Given the description of an element on the screen output the (x, y) to click on. 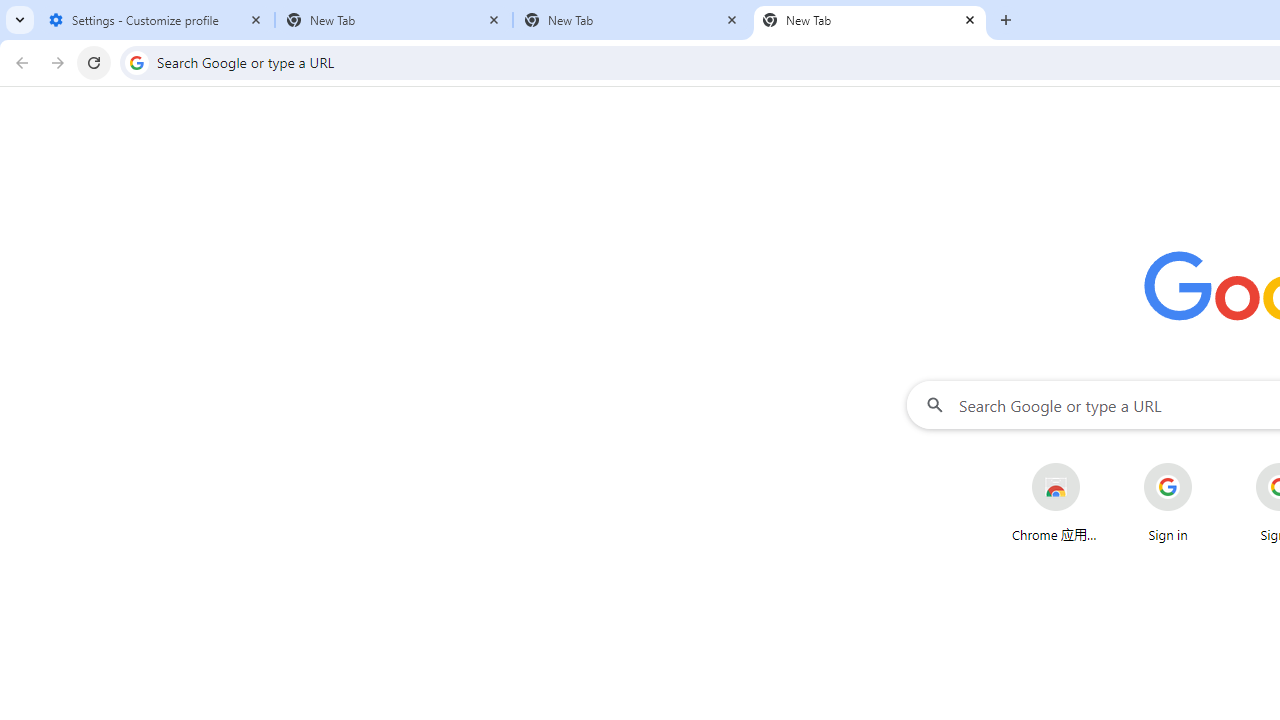
More actions for Sign in shortcut (1208, 464)
New Tab (870, 20)
New Tab (632, 20)
New Tab (394, 20)
Settings - Customize profile (156, 20)
